Given the description of an element on the screen output the (x, y) to click on. 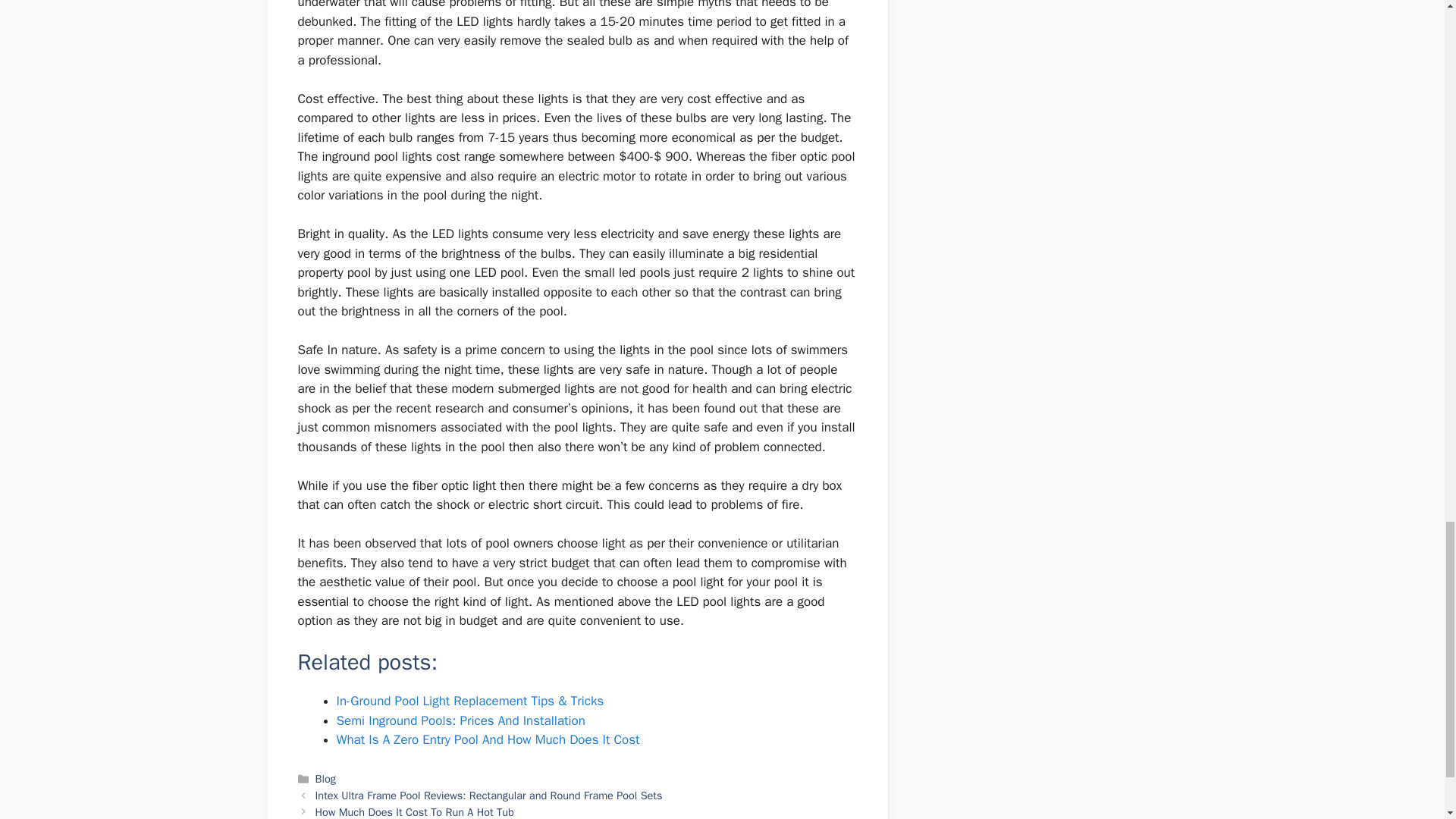
Blog (325, 778)
Next (414, 812)
Previous (488, 795)
What Is A Zero Entry Pool And How Much Does It Cost (488, 739)
Semi Inground Pools: Prices And Installation (460, 720)
How Much Does It Cost To Run A Hot Tub (414, 812)
